Given the description of an element on the screen output the (x, y) to click on. 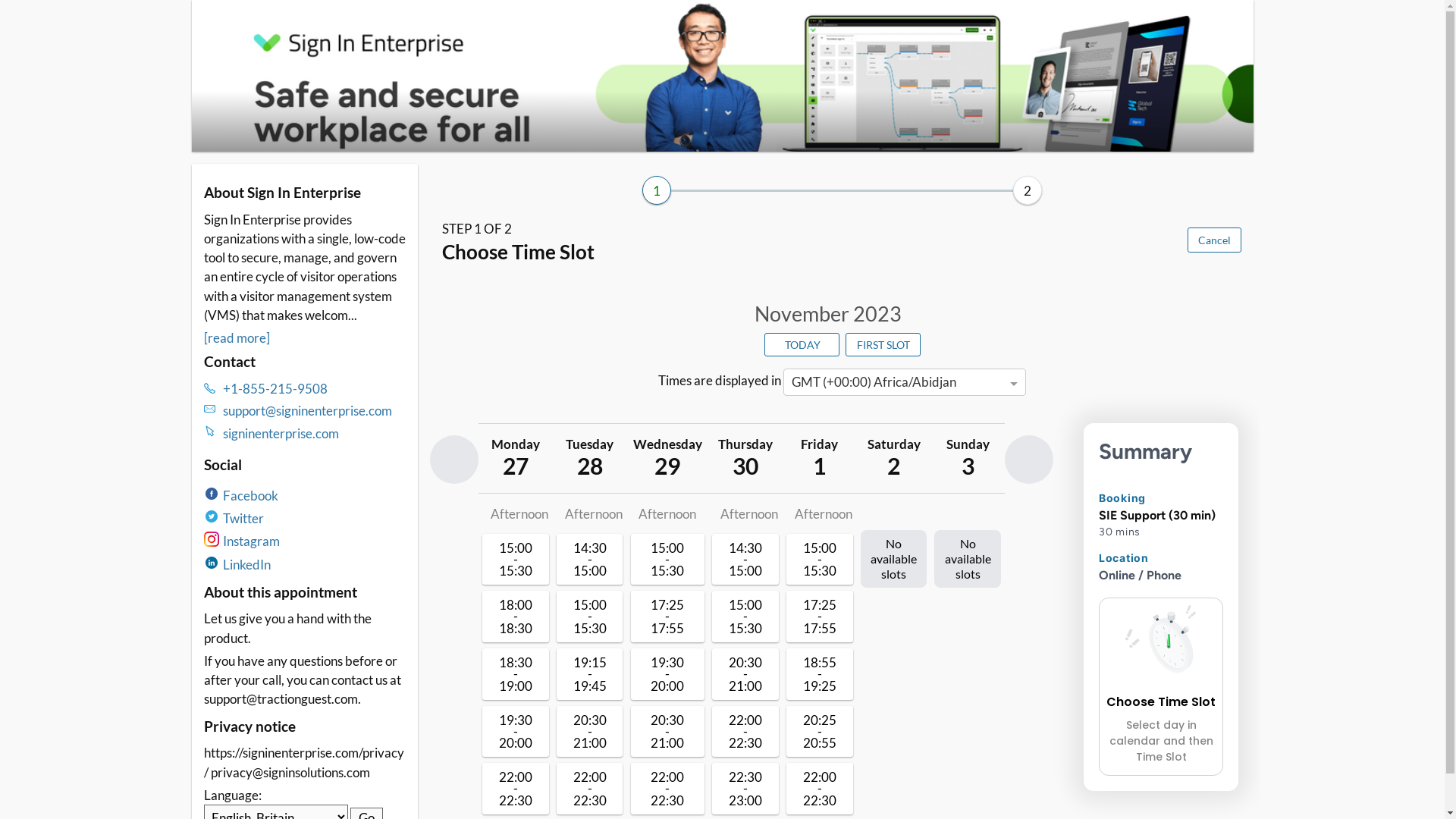
[read more] Element type: text (236, 337)
Instagram Element type: text (250, 541)
Skip to booking section Element type: text (280, 23)
Twitter Element type: text (242, 518)
signinenterprise.com Element type: text (314, 432)
+1-855-215-9508 Element type: text (314, 388)
support@signinenterprise.com Element type: text (314, 410)
LinkedIn Element type: text (246, 564)
Facebook Element type: text (250, 495)
